Given the description of an element on the screen output the (x, y) to click on. 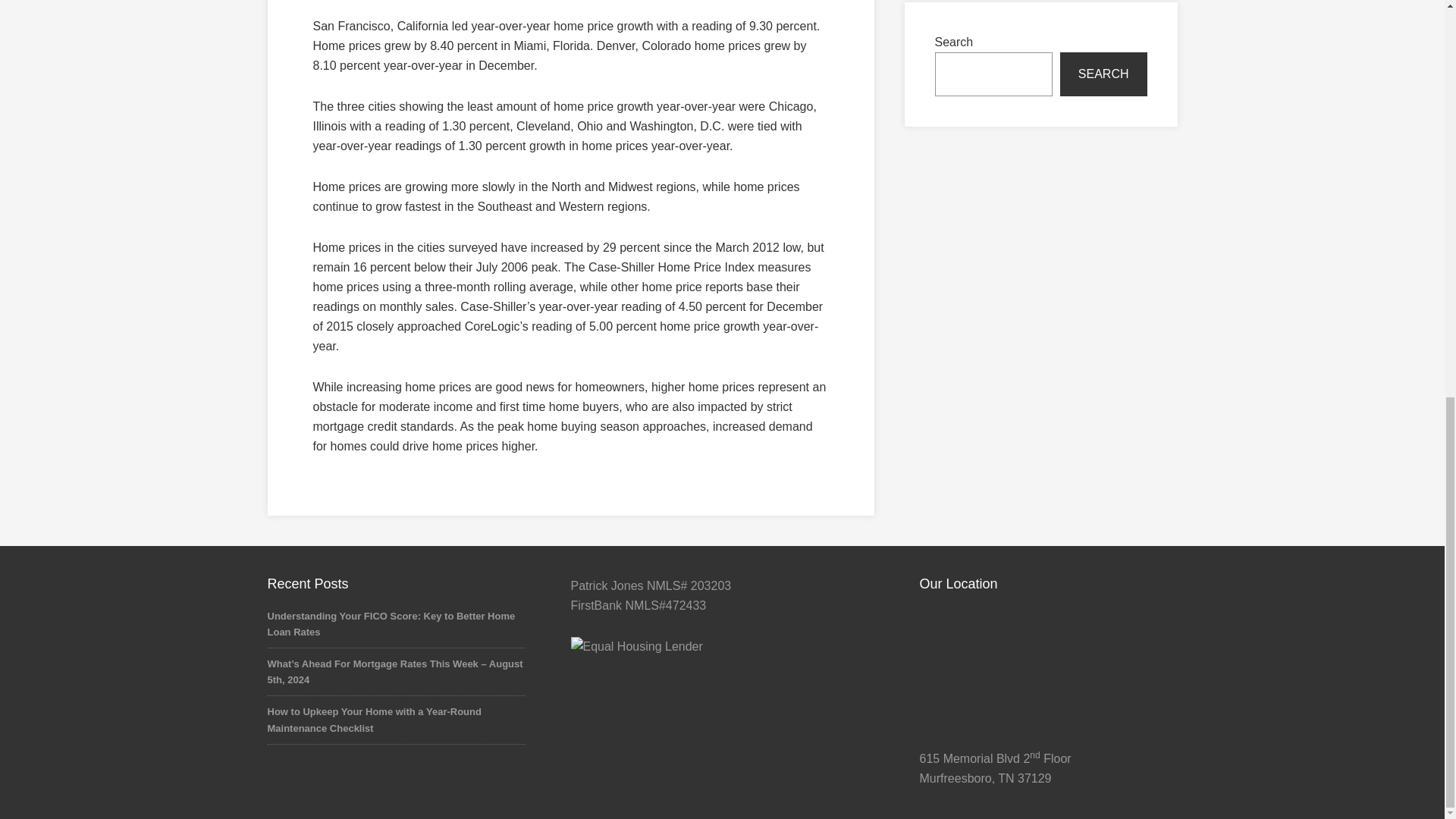
Understanding Your FICO Score: Key to Better Home Loan Rates (390, 624)
SEARCH (1103, 74)
